Given the description of an element on the screen output the (x, y) to click on. 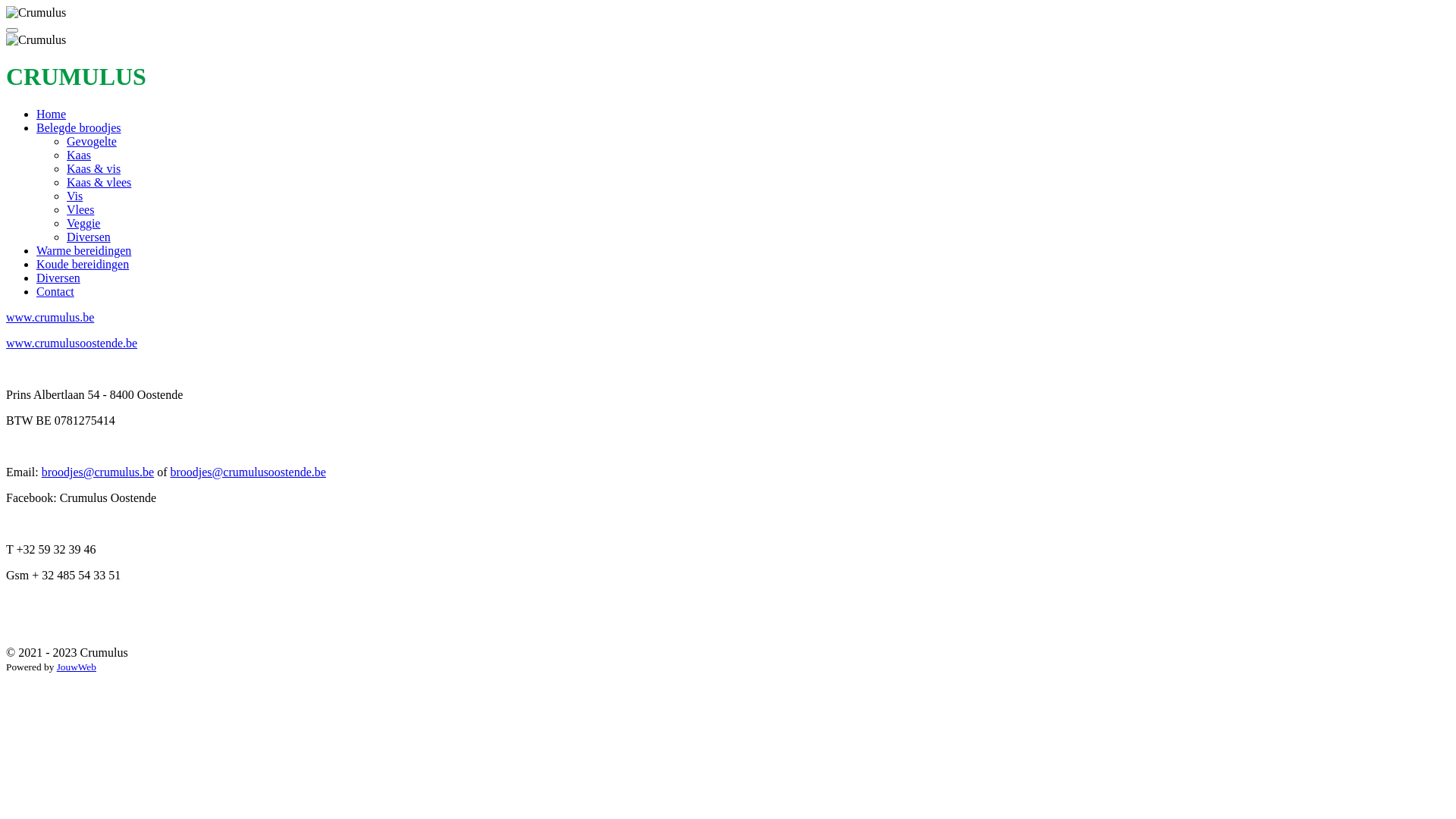
Crumulus Element type: hover (35, 40)
Koude bereidingen Element type: text (82, 263)
www.crumulus.be Element type: text (50, 316)
Home Element type: text (50, 113)
Kaas Element type: text (78, 154)
broodjes@crumulusoostende.be Element type: text (247, 471)
Vis Element type: text (74, 195)
Diversen Element type: text (58, 277)
broodjes@crumulus.be Element type: text (97, 471)
Contact Element type: text (55, 291)
Gevogelte Element type: text (91, 140)
Vlees Element type: text (80, 209)
Diversen Element type: text (88, 236)
Kaas & vlees Element type: text (98, 181)
JouwWeb Element type: text (76, 666)
Crumulus Element type: hover (35, 12)
Kaas & vis Element type: text (93, 168)
Veggie Element type: text (83, 222)
Belegde broodjes Element type: text (78, 127)
www.crumulusoostende.be Element type: text (71, 342)
Warme bereidingen Element type: text (83, 250)
